Given the description of an element on the screen output the (x, y) to click on. 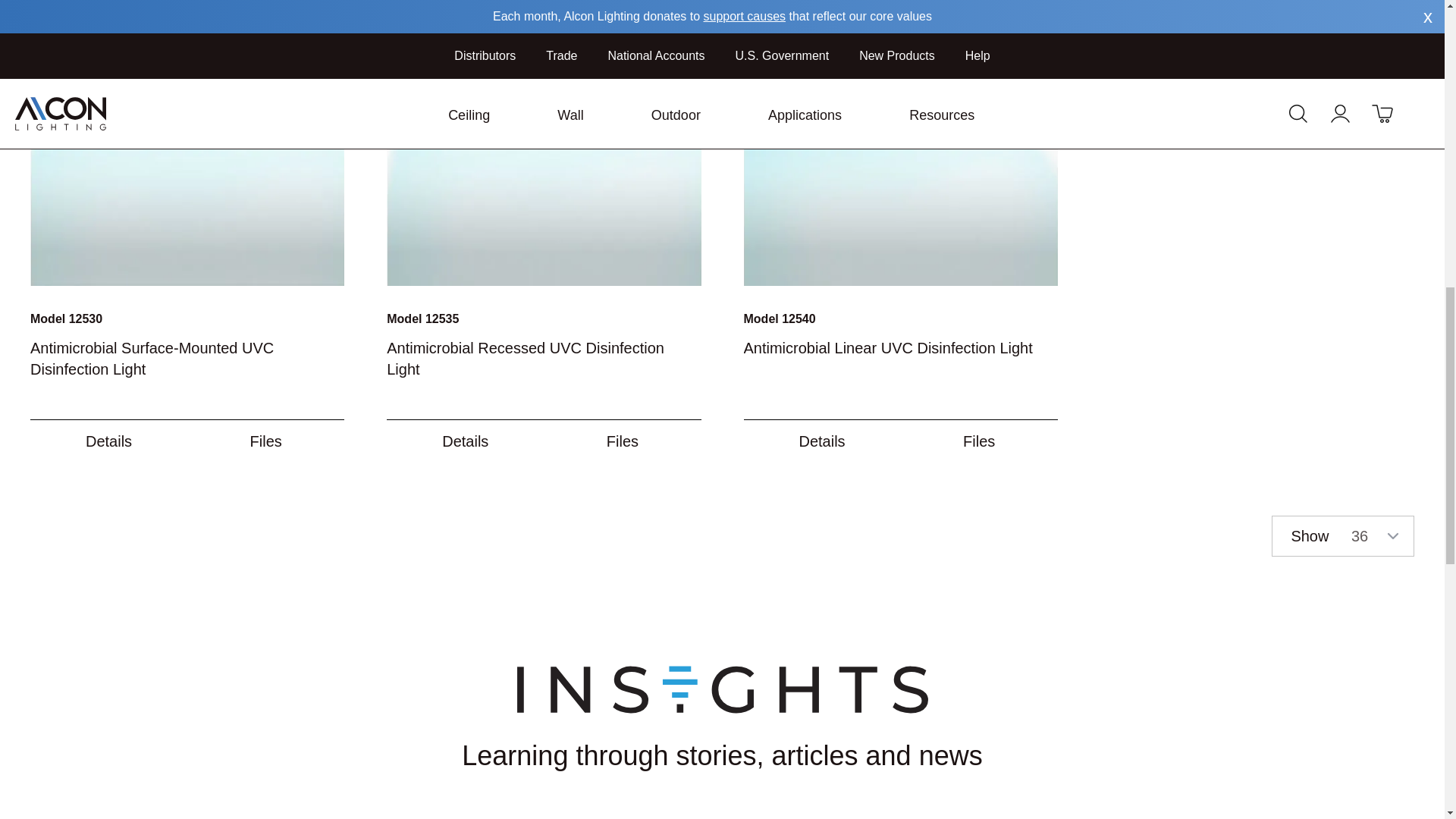
Antimicrobial Surface-Mounted UVC Disinfection Light (186, 142)
Antimicrobial Recessed UVC Disinfection Light (543, 142)
Antimicrobial Linear UVC Disinfection Light (899, 142)
